Given the description of an element on the screen output the (x, y) to click on. 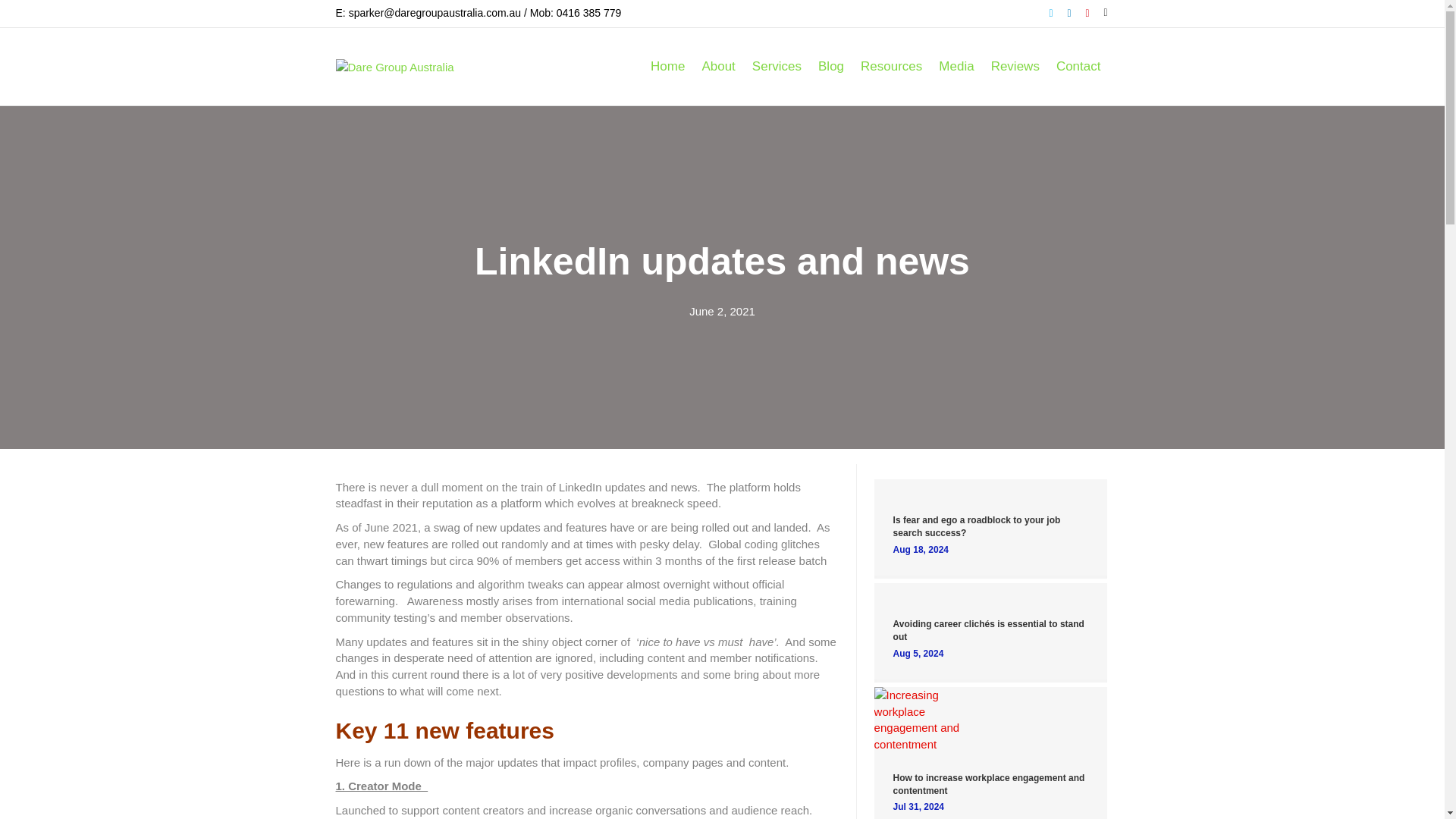
Contact (1078, 65)
Reviews (1015, 65)
Media (955, 65)
0416 385 779 (588, 12)
Services (776, 65)
Blog (830, 65)
About (717, 65)
Is fear and ego a roadblock to your job search success? (977, 526)
How to increase workplace engagement and contentment (920, 717)
Home (667, 65)
